Given the description of an element on the screen output the (x, y) to click on. 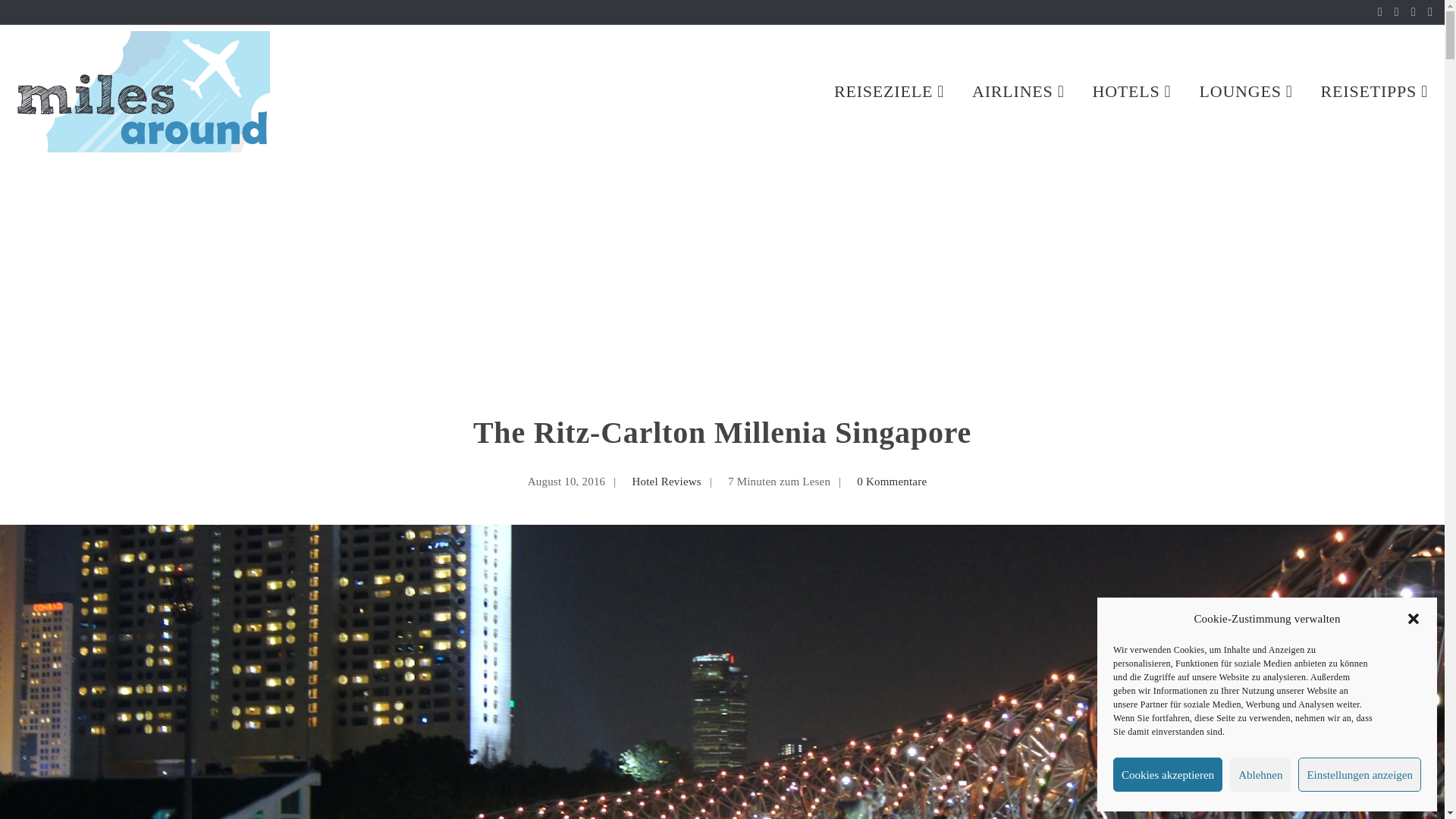
Einstellungen anzeigen (1359, 774)
Ablehnen (1260, 774)
REISEZIELE (890, 91)
Cookies akzeptieren (1168, 774)
